Given the description of an element on the screen output the (x, y) to click on. 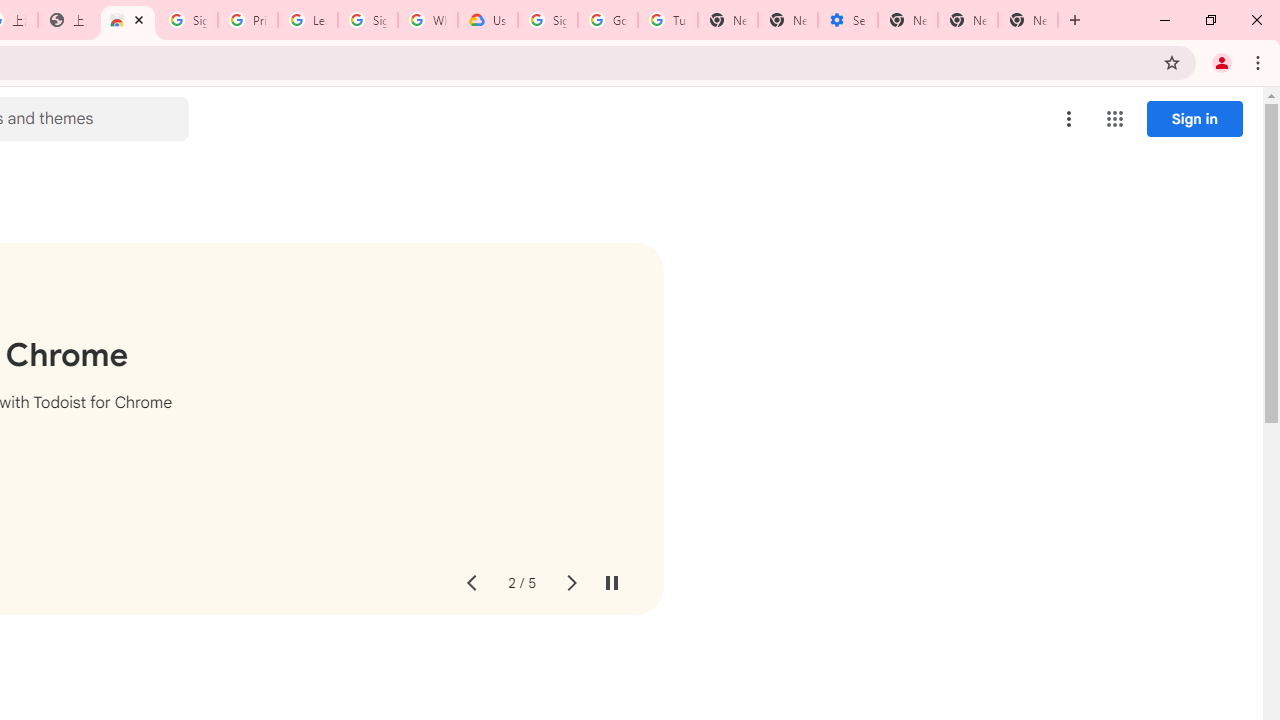
Pause auto-play (611, 583)
Sign in - Google Accounts (187, 20)
New Tab (908, 20)
New Tab (1028, 20)
Next slide (570, 583)
Previous slide (470, 583)
